Given the description of an element on the screen output the (x, y) to click on. 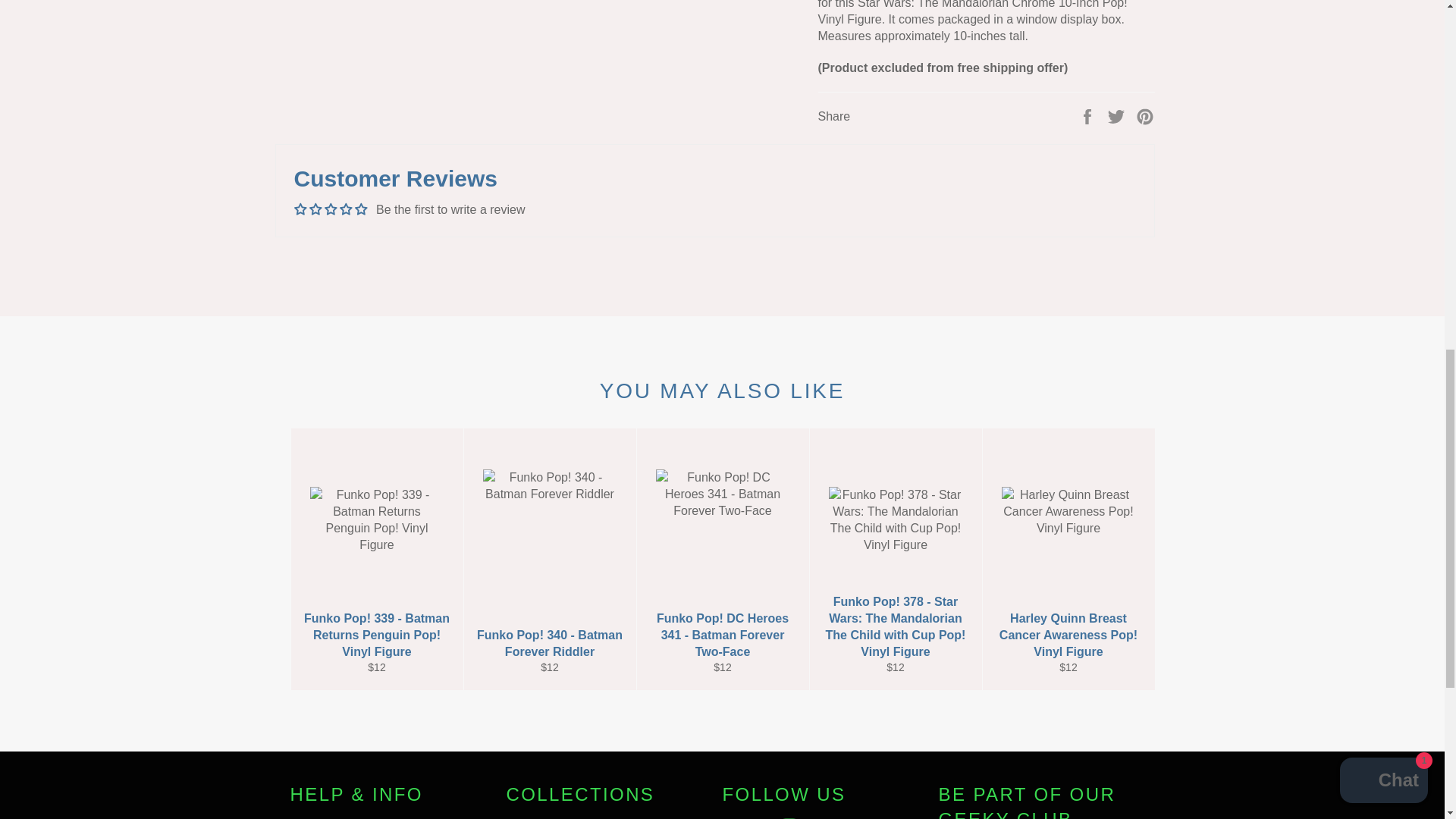
Tweet on Twitter (1117, 115)
Pin on Pinterest (1144, 115)
Share on Facebook (1088, 115)
Tweet on Twitter (1117, 115)
Share on Facebook (1088, 115)
Pin on Pinterest (1144, 115)
